Given the description of an element on the screen output the (x, y) to click on. 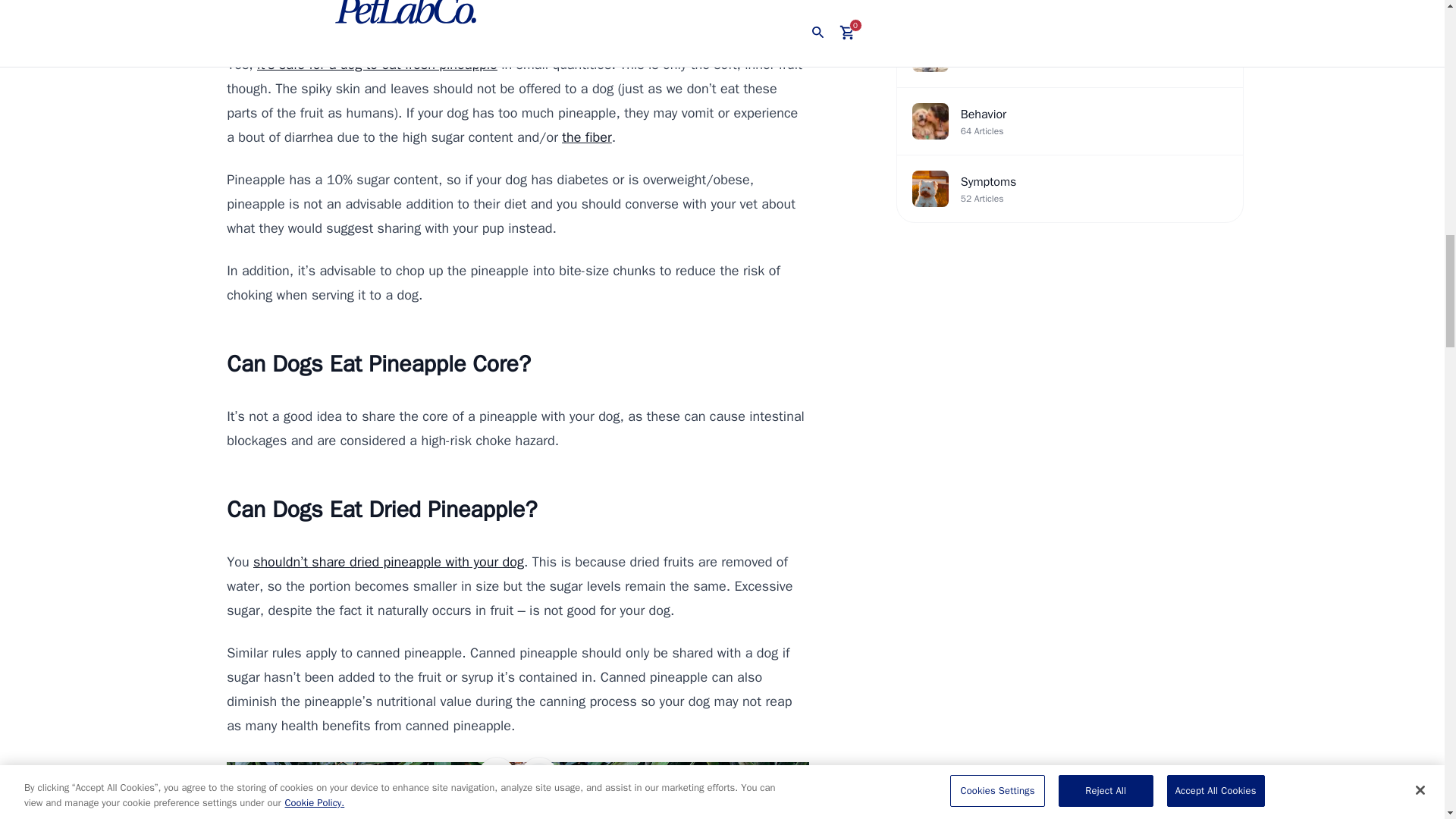
the fiber (586, 136)
